Given the description of an element on the screen output the (x, y) to click on. 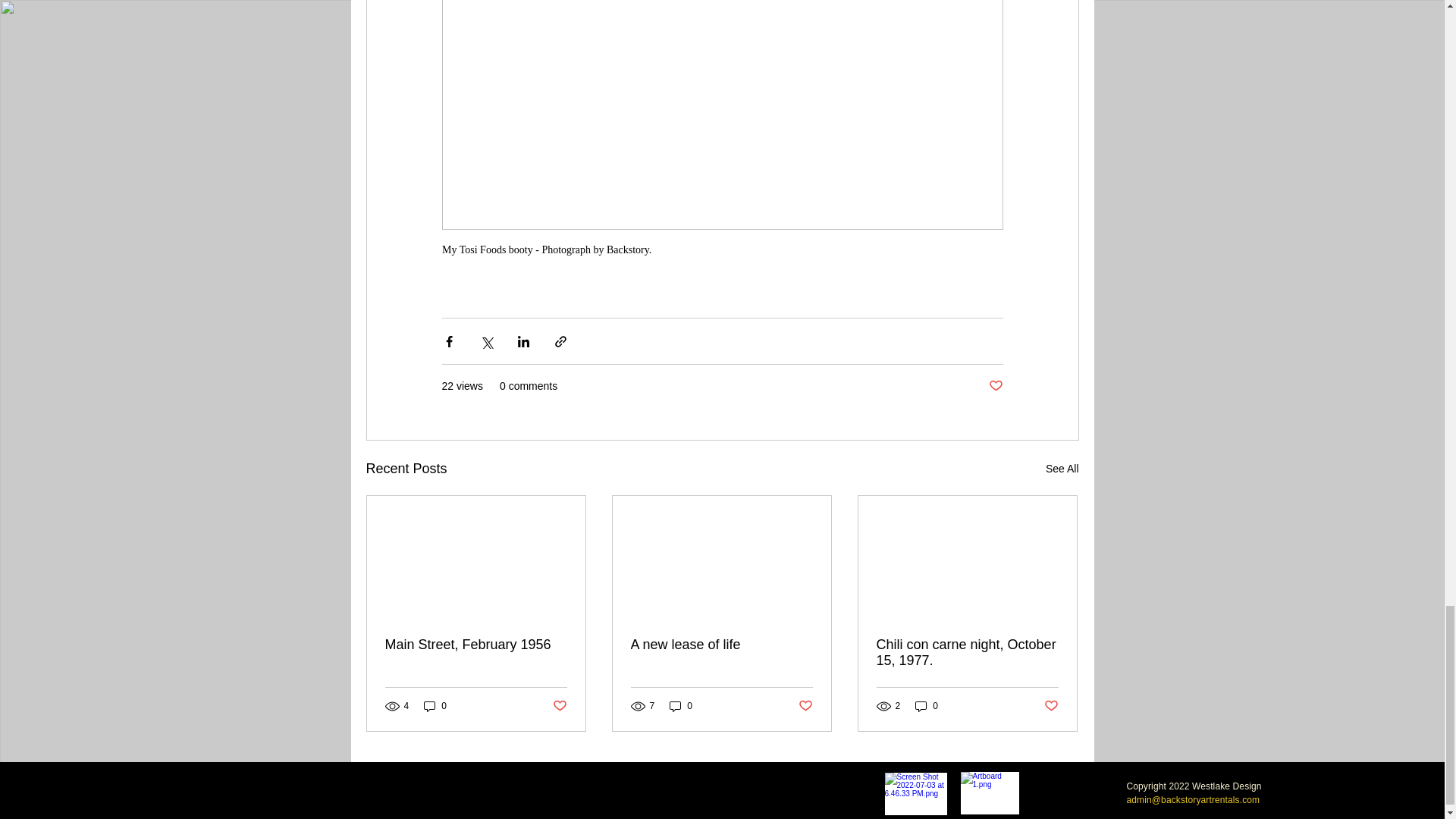
Post not marked as liked (804, 706)
Post not marked as liked (995, 385)
0 (435, 706)
Main Street, February 1956 (476, 644)
0 (926, 706)
Post not marked as liked (558, 706)
0 (681, 706)
A new lease of life (721, 644)
See All (1061, 468)
Chili con carne night, October 15, 1977. (967, 653)
